Given the description of an element on the screen output the (x, y) to click on. 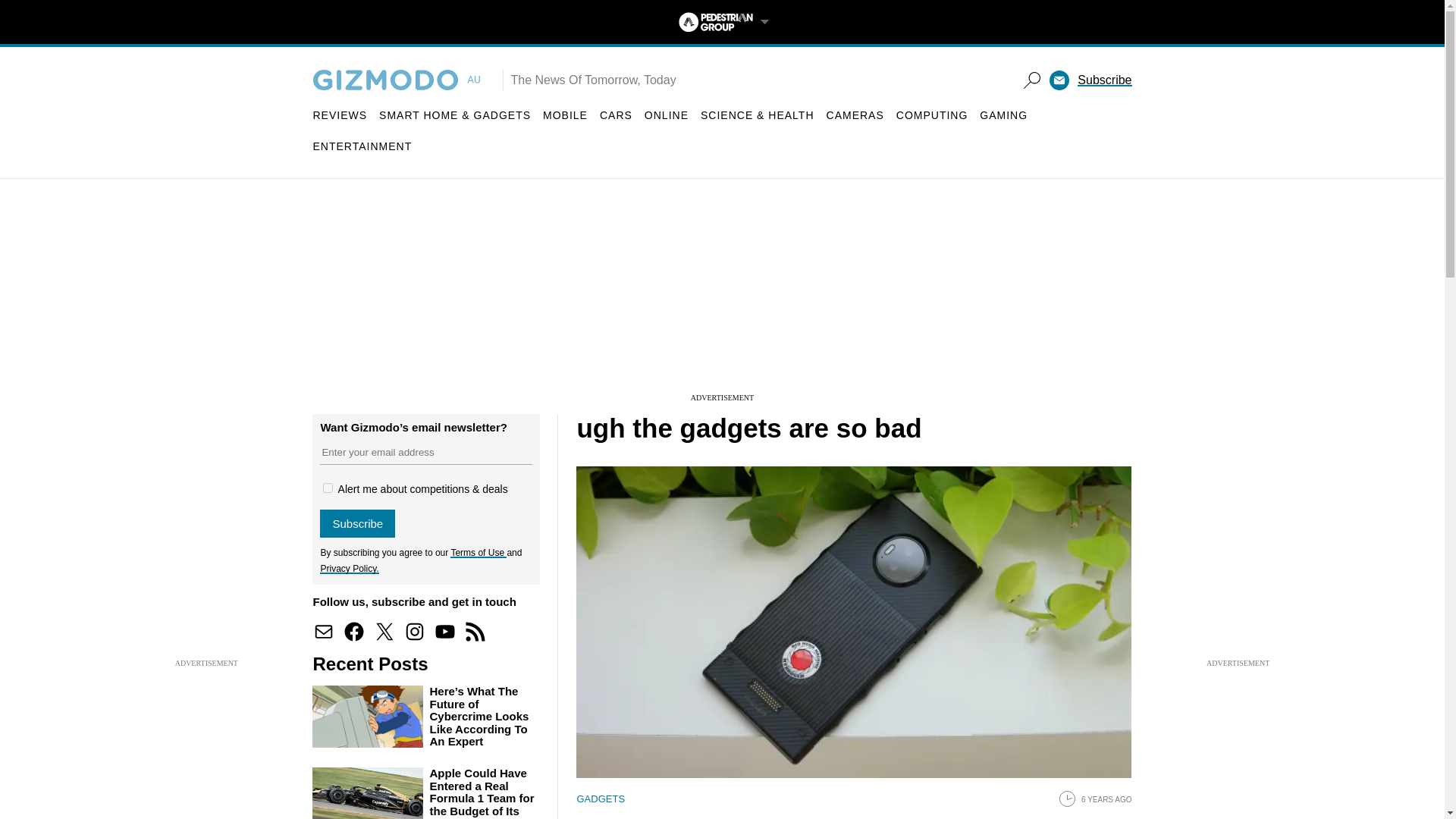
Subscribe (1104, 79)
COMPUTING (932, 115)
CARS (615, 115)
Subscribe (357, 523)
REVIEWS (339, 115)
MOBILE (565, 115)
GAMING (1003, 115)
ONLINE (666, 115)
ENTERTAINMENT (362, 145)
CAMERAS (855, 115)
